Given the description of an element on the screen output the (x, y) to click on. 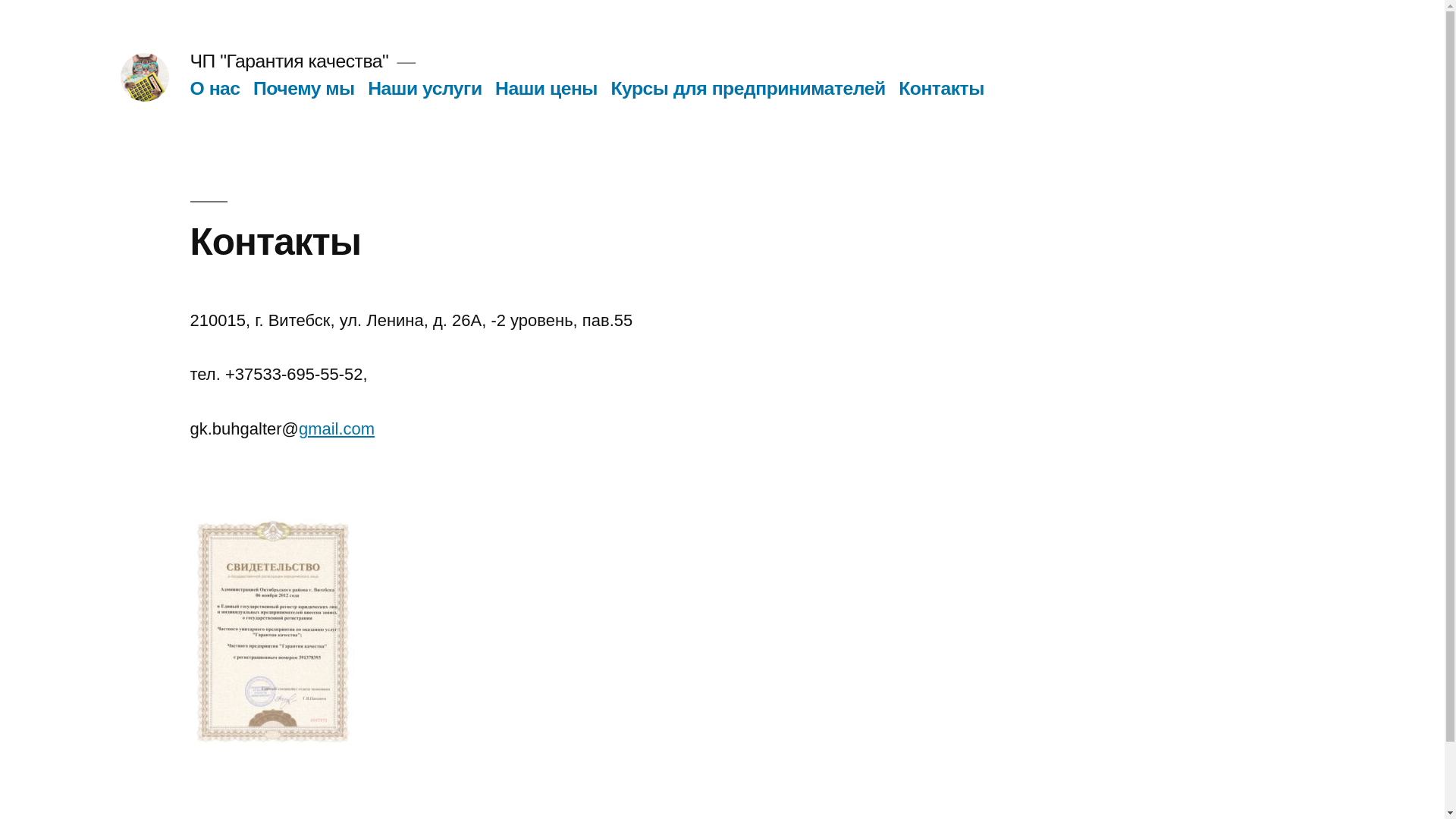
gmail.com Element type: text (336, 428)
